Given the description of an element on the screen output the (x, y) to click on. 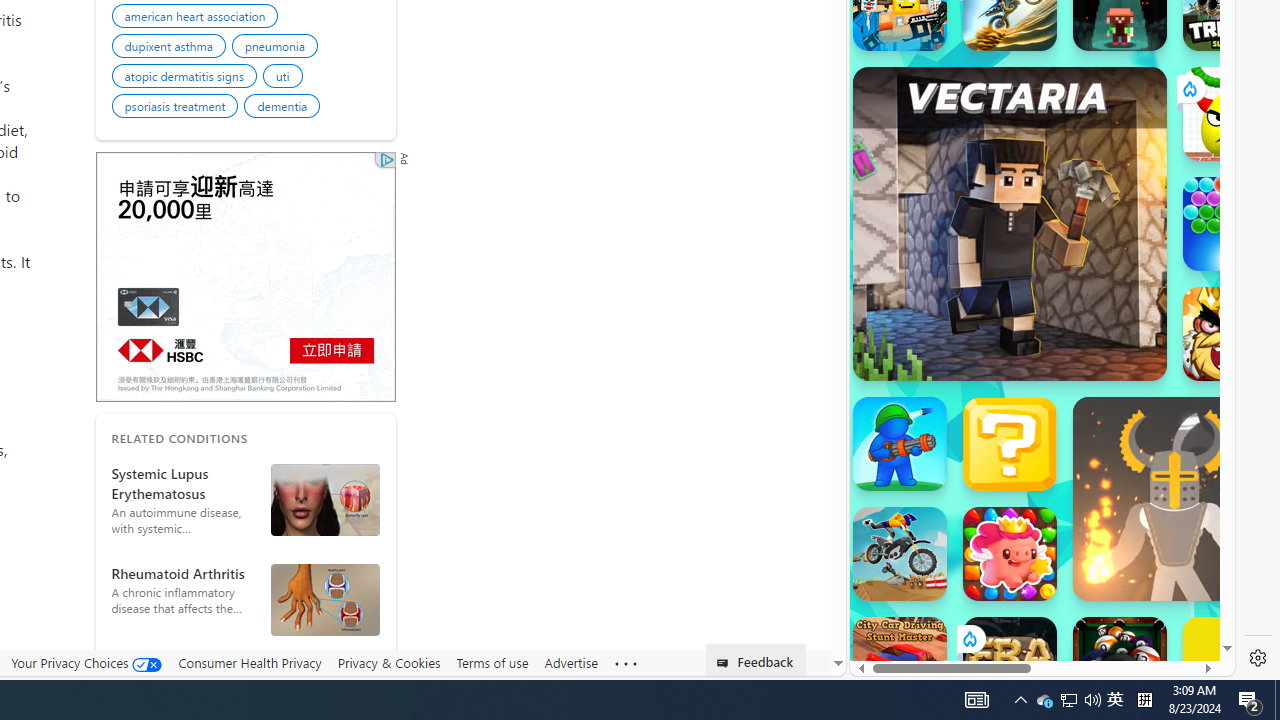
Hills of Steel (943, 200)
poki.com (1092, 338)
Combat Reloaded (1092, 300)
american heart association (198, 18)
Combat Reloaded (1092, 200)
Ragdoll Hit (1174, 498)
Class: oneFooter_seeMore-DS-EntryPoint1-1 (625, 663)
Diagrammatic Representation of - Rheumatoid Arthritis (325, 599)
Mystery Tile (1009, 443)
Class: feedback_link_icon-DS-EntryPoint1-1 (726, 663)
